Given the description of an element on the screen output the (x, y) to click on. 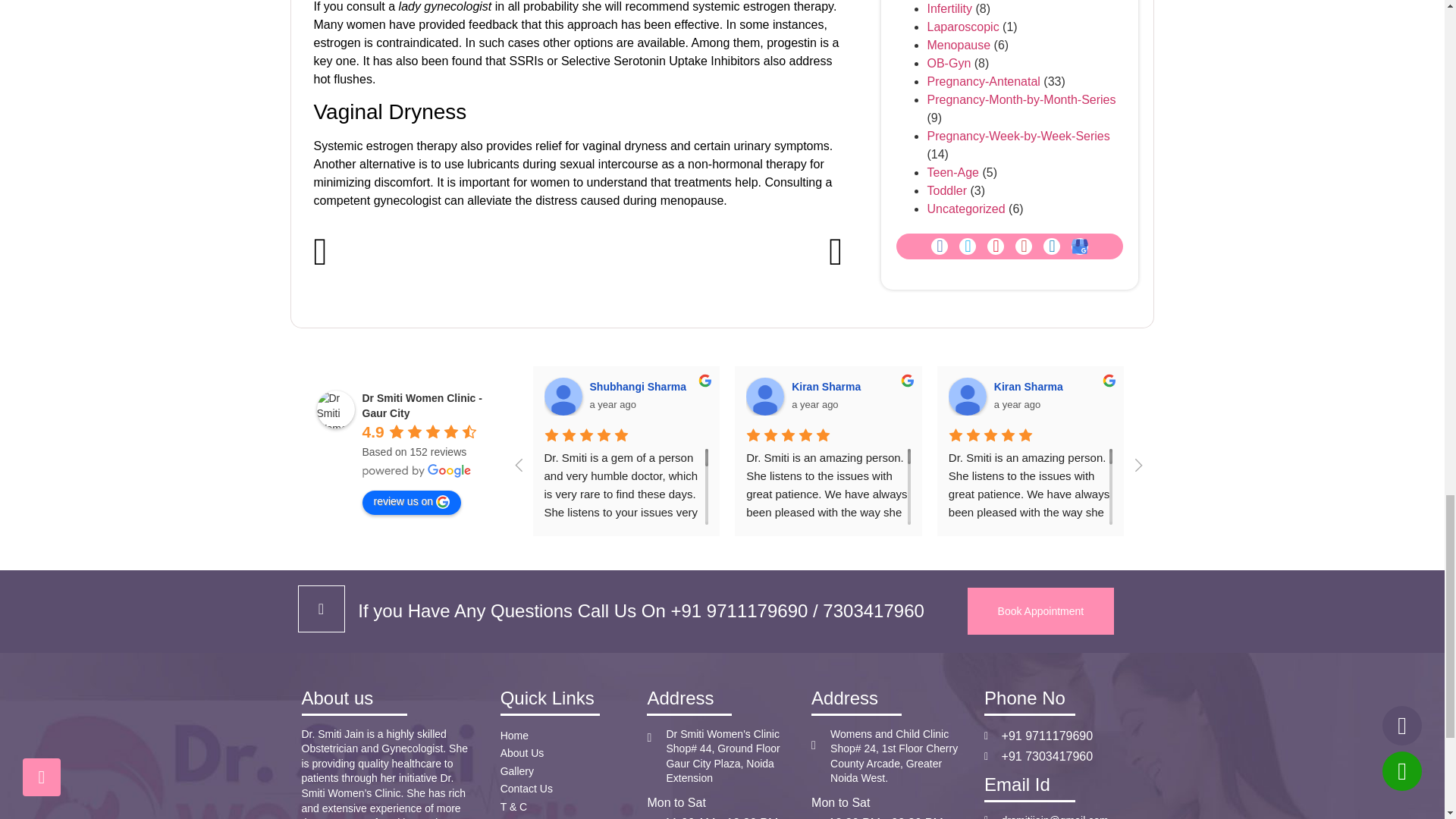
YASHI SRIVASTAVA (1371, 396)
Shubhangi Sharma (563, 396)
Dr Smiti Women Clinic - Gaur City (336, 409)
Kiran Sharma (968, 396)
Radhey Arora (1169, 396)
powered by Google (416, 470)
Kiran Sharma (764, 396)
